Given the description of an element on the screen output the (x, y) to click on. 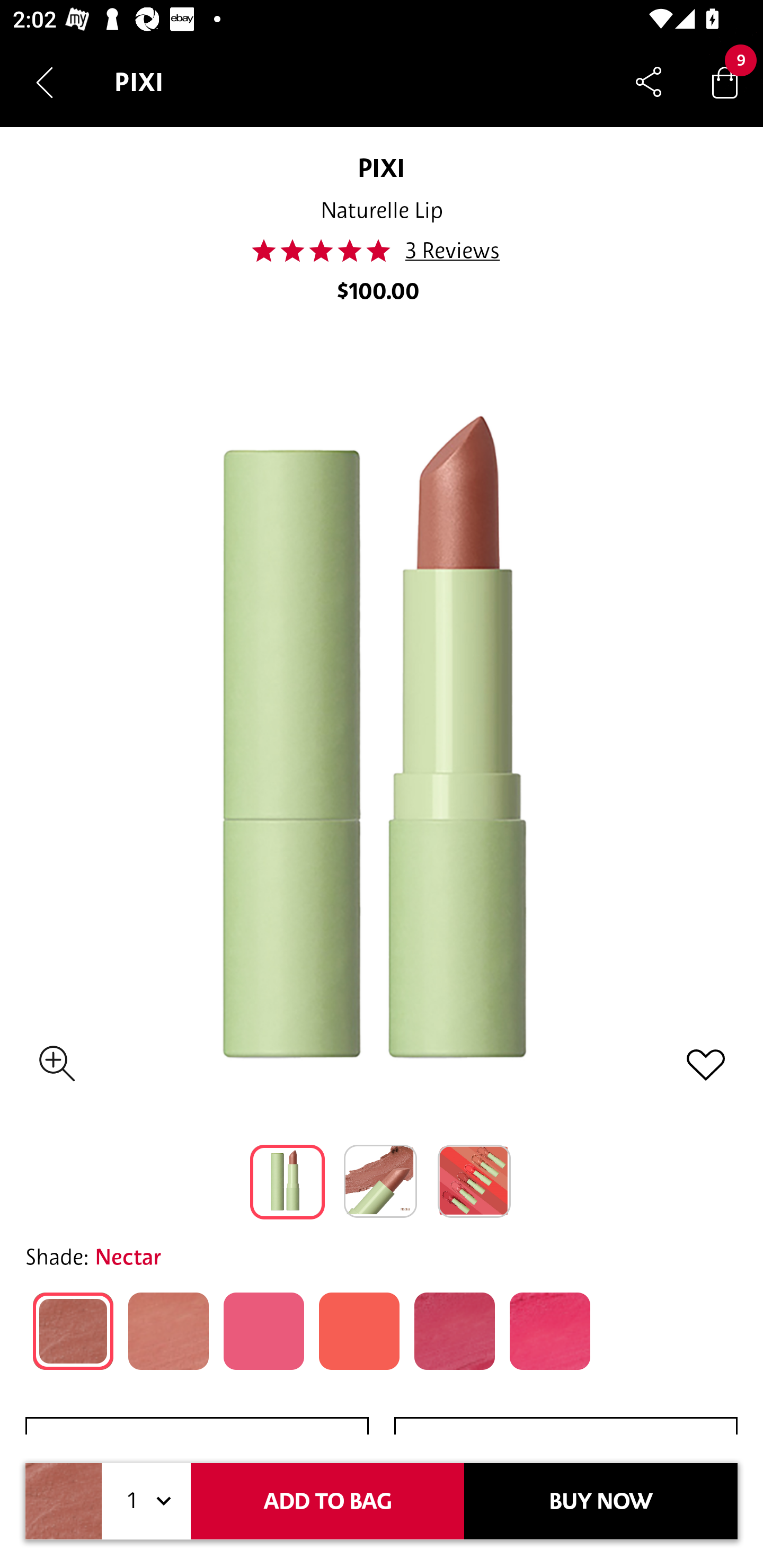
Navigate up (44, 82)
Share (648, 81)
Bag (724, 81)
PIXI (380, 167)
50.0 3 Reviews (380, 250)
1 (145, 1500)
ADD TO BAG (326, 1500)
BUY NOW (600, 1500)
